Given the description of an element on the screen output the (x, y) to click on. 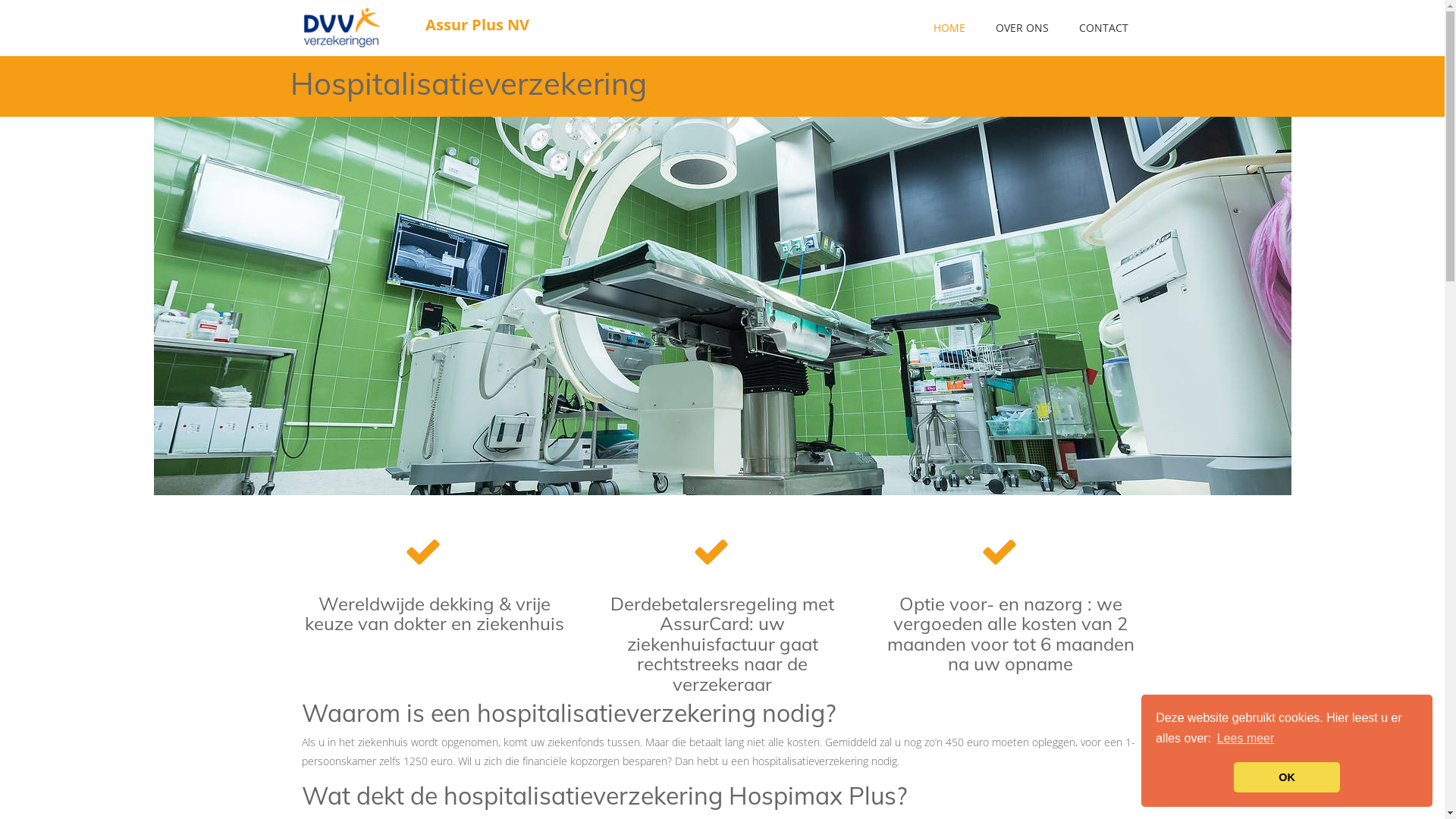
OVER ONS Element type: text (1021, 28)
OK Element type: text (1286, 777)
CONTACT Element type: text (1102, 28)
Assur Plus NV Element type: text (350, 27)
HOME
(HUIDIGE PAGINA) Element type: text (948, 28)
Lees meer Element type: text (1245, 738)
